Given the description of an element on the screen output the (x, y) to click on. 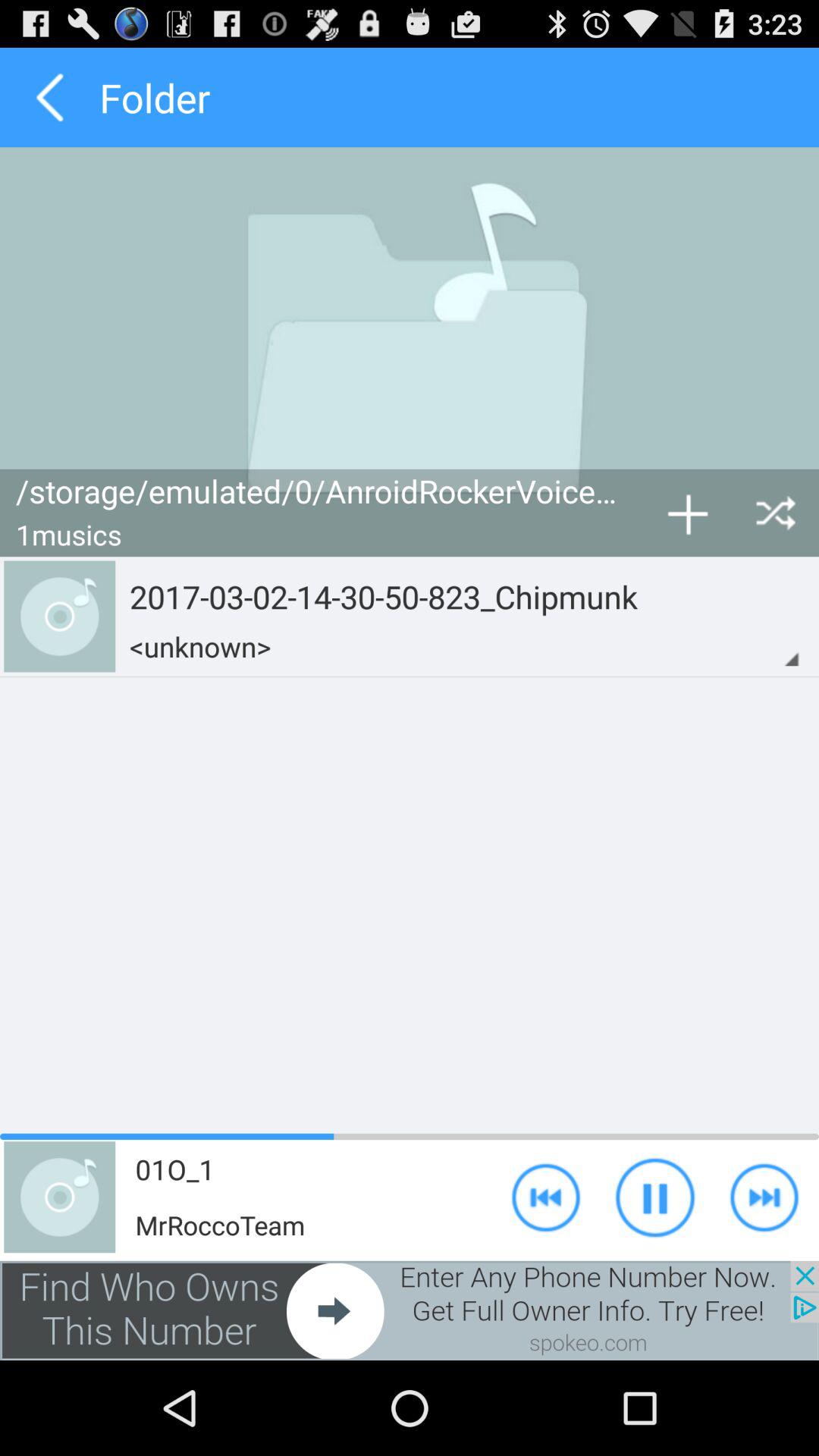
next arrow icon (764, 1196)
